Given the description of an element on the screen output the (x, y) to click on. 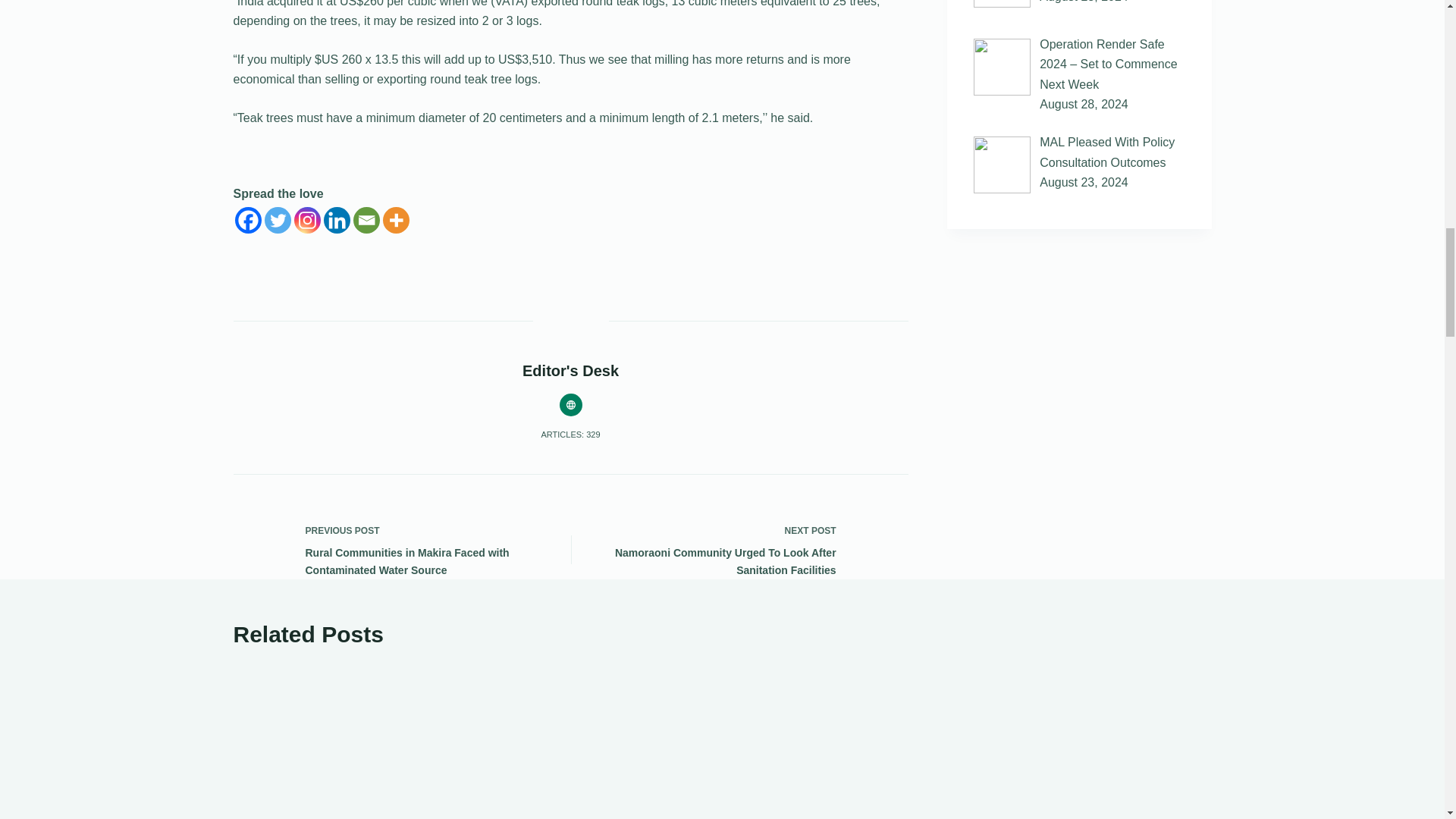
Instagram (307, 220)
Twitter (276, 220)
More (395, 220)
Linkedin (336, 220)
Facebook (248, 220)
Email (366, 220)
